Given the description of an element on the screen output the (x, y) to click on. 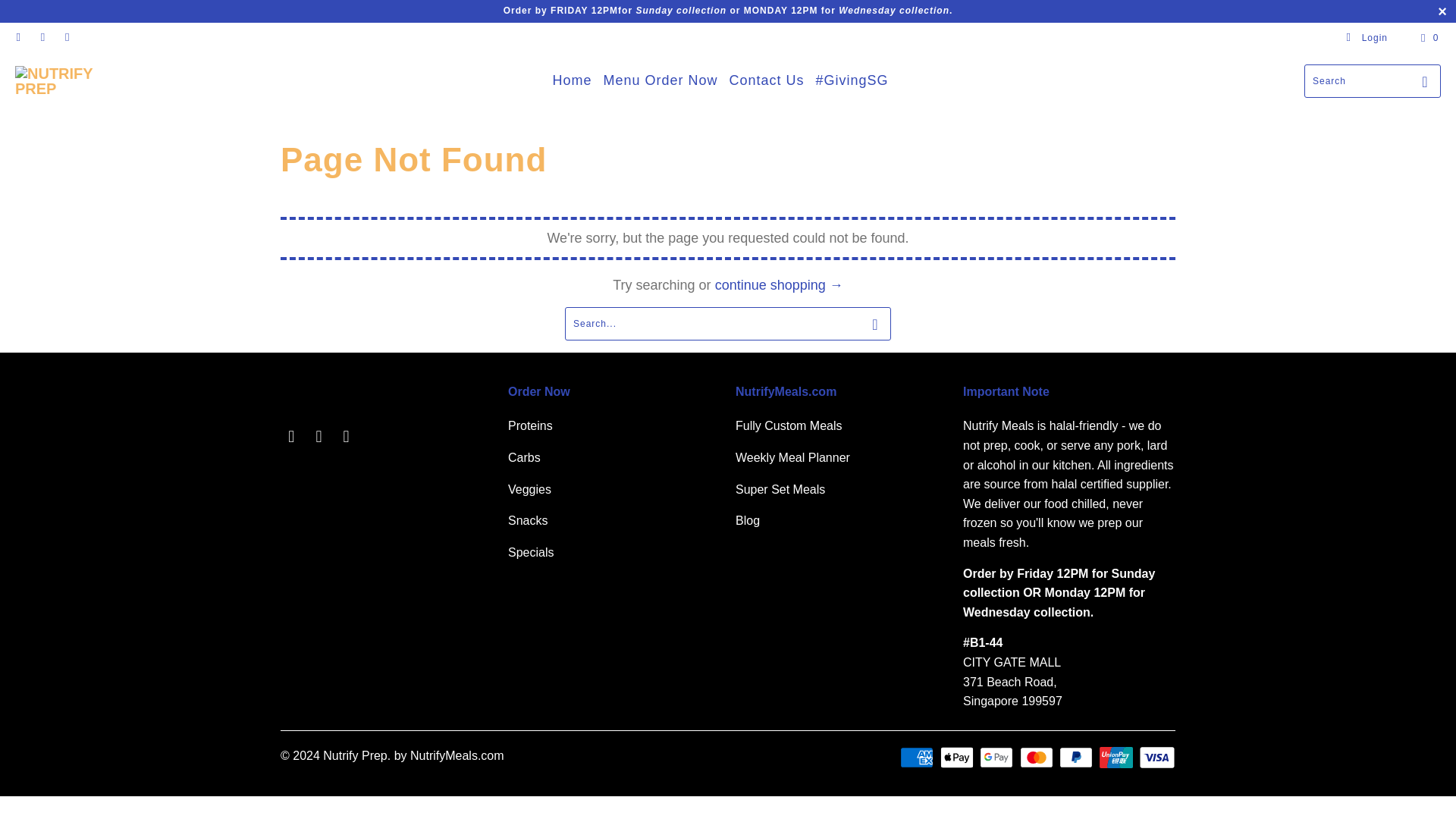
Menu Order Now (659, 80)
Carbs (524, 457)
Google Pay (997, 757)
Contact Us (767, 80)
Nutrify Prep  on Instagram (318, 436)
Home (571, 80)
American Express (917, 757)
Apple Pay (958, 757)
Email Nutrify Prep  (67, 37)
Login (1365, 37)
